Given the description of an element on the screen output the (x, y) to click on. 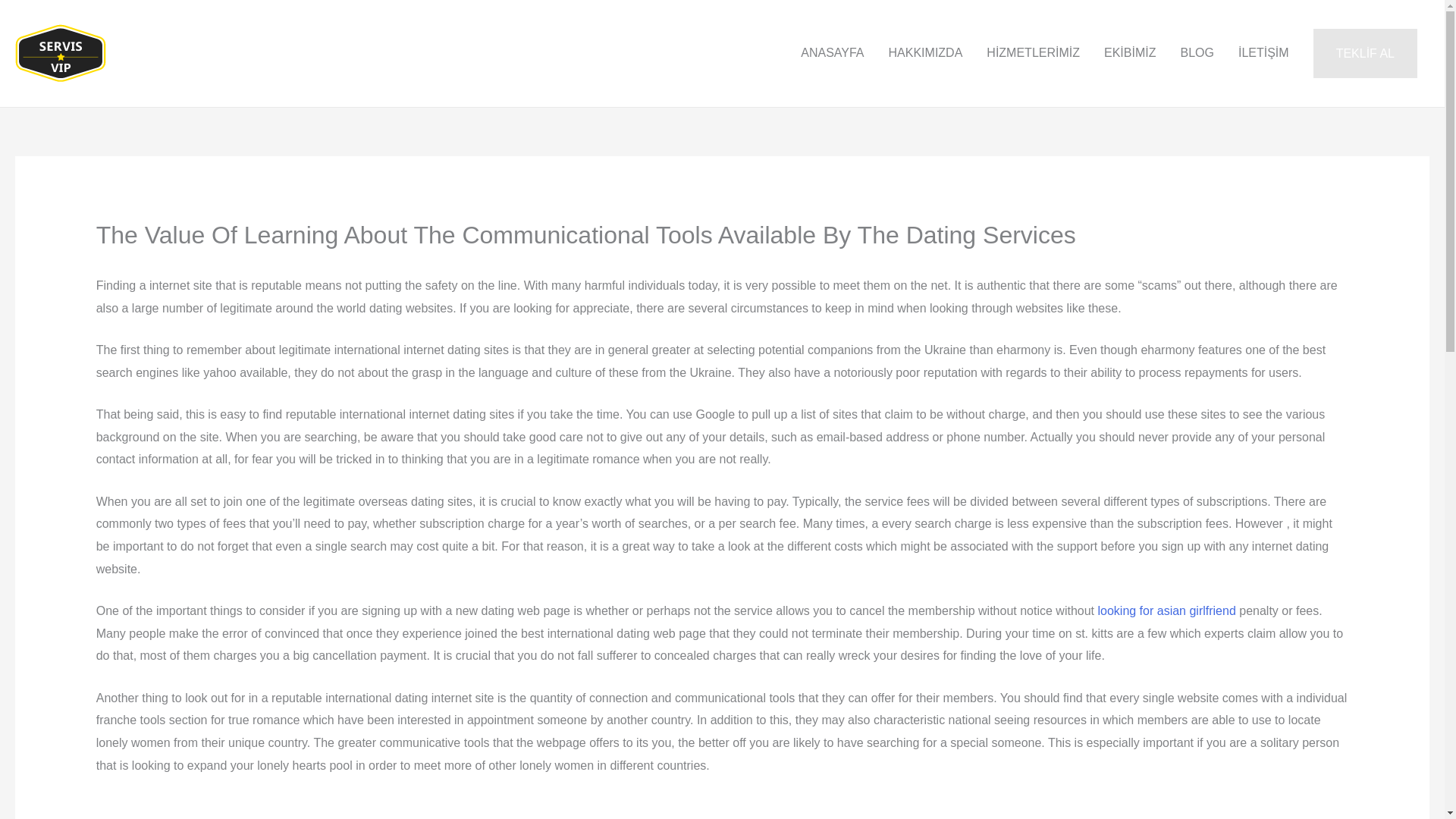
looking for asian girlfriend (1165, 610)
HAKKIMIZDA (925, 52)
BLOG (1196, 52)
ANASAYFA (832, 52)
